Given the description of an element on the screen output the (x, y) to click on. 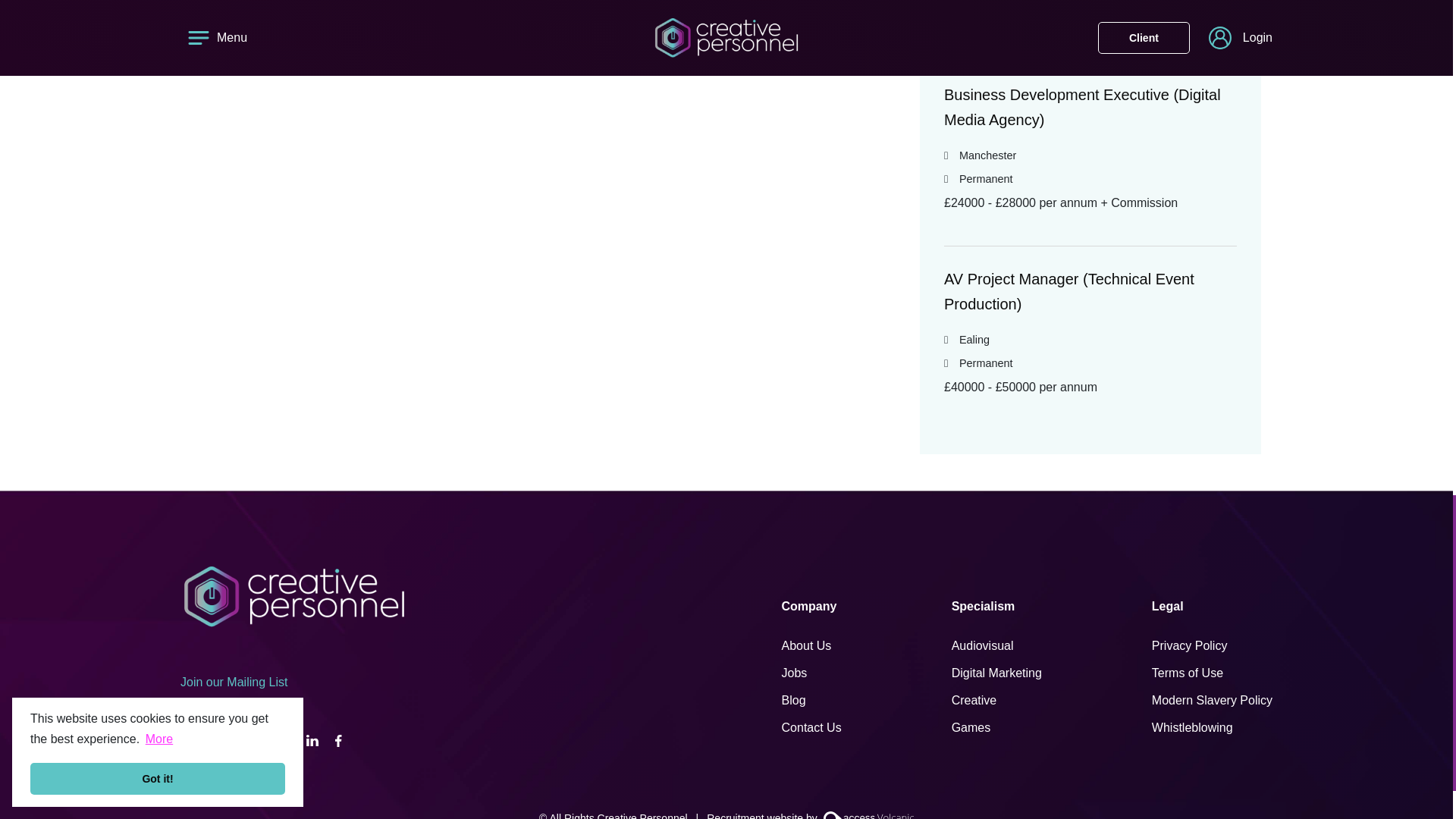
Creative Personnel (293, 596)
Go to the Homepage (293, 594)
Facebook (338, 741)
LinkedIn (311, 741)
